Given the description of an element on the screen output the (x, y) to click on. 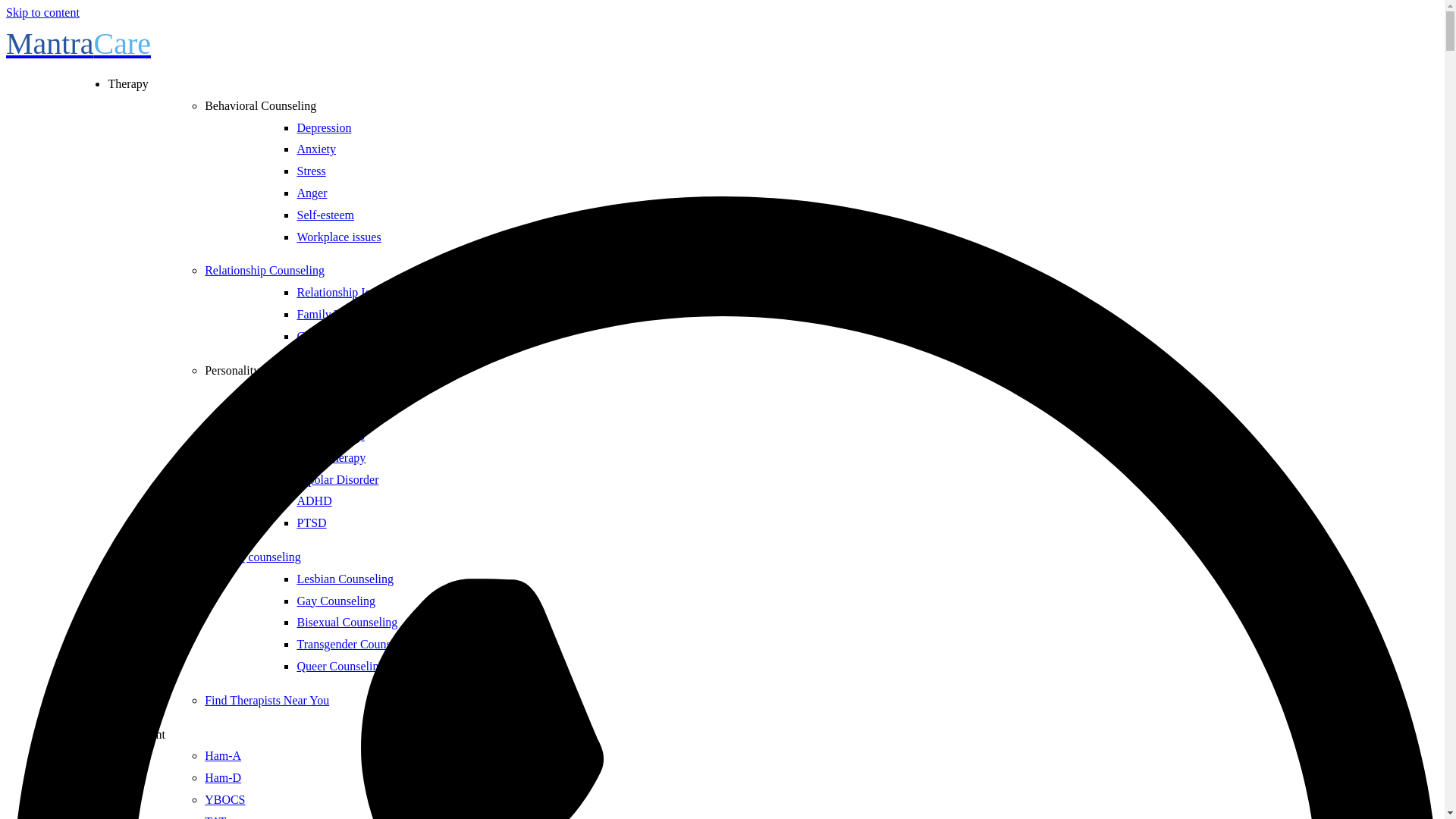
Assessment (136, 734)
YBOCS (224, 799)
Ham-A (223, 755)
Transgender Counseling (355, 644)
Find Therapists Near You (267, 699)
Therapy (127, 83)
Bipolar Disorder (337, 479)
Bisexual Counseling (347, 621)
Skip to content (42, 11)
Stress (310, 170)
